Given the description of an element on the screen output the (x, y) to click on. 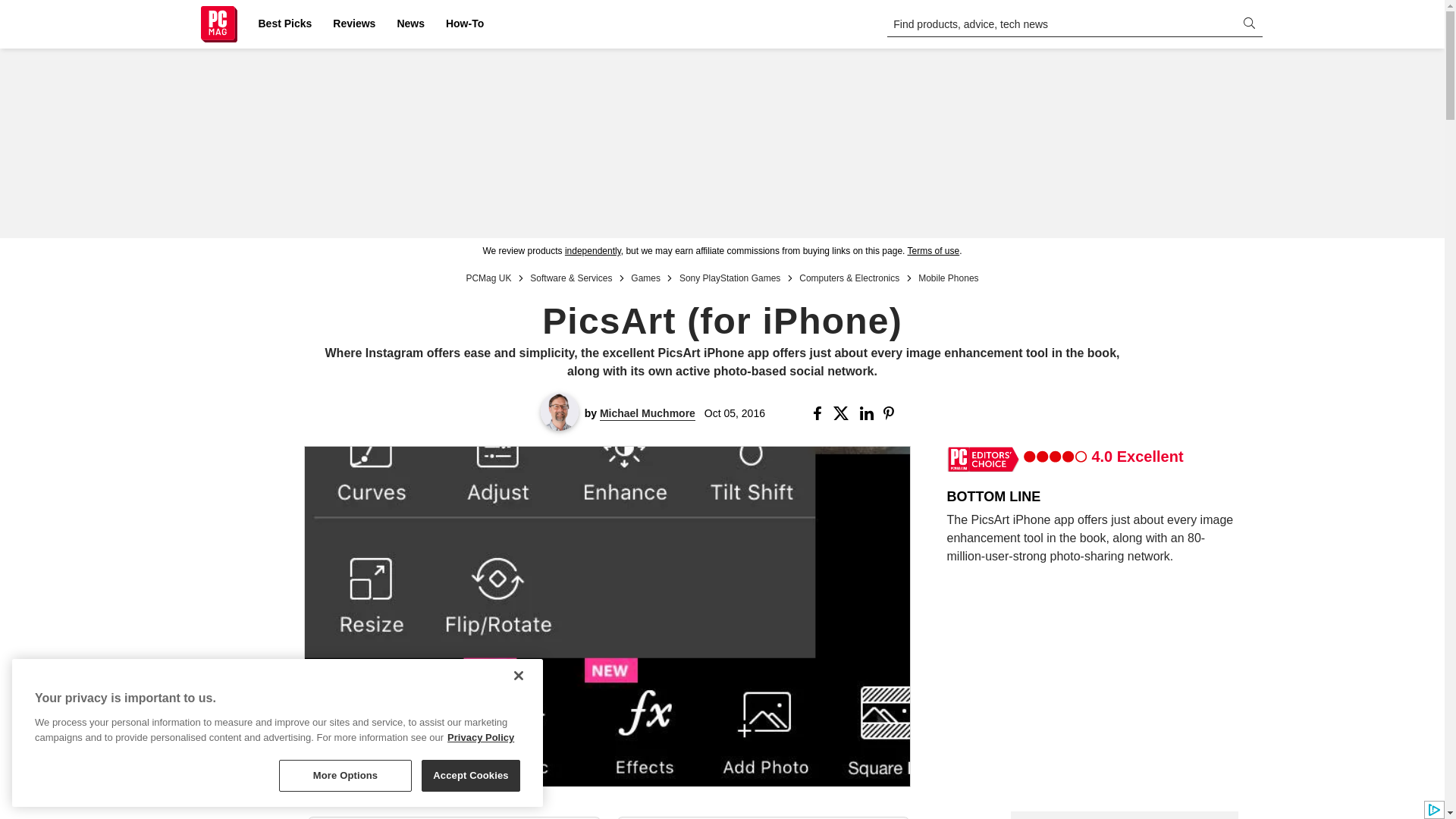
3rd party ad content (721, 142)
Share this Story on Pinterest (893, 413)
3rd party ad content (1123, 815)
Share this Story on Linkedin (868, 413)
Share this Story on X (842, 413)
Share this Story on Facebook (820, 413)
Best Picks (284, 24)
